Given the description of an element on the screen output the (x, y) to click on. 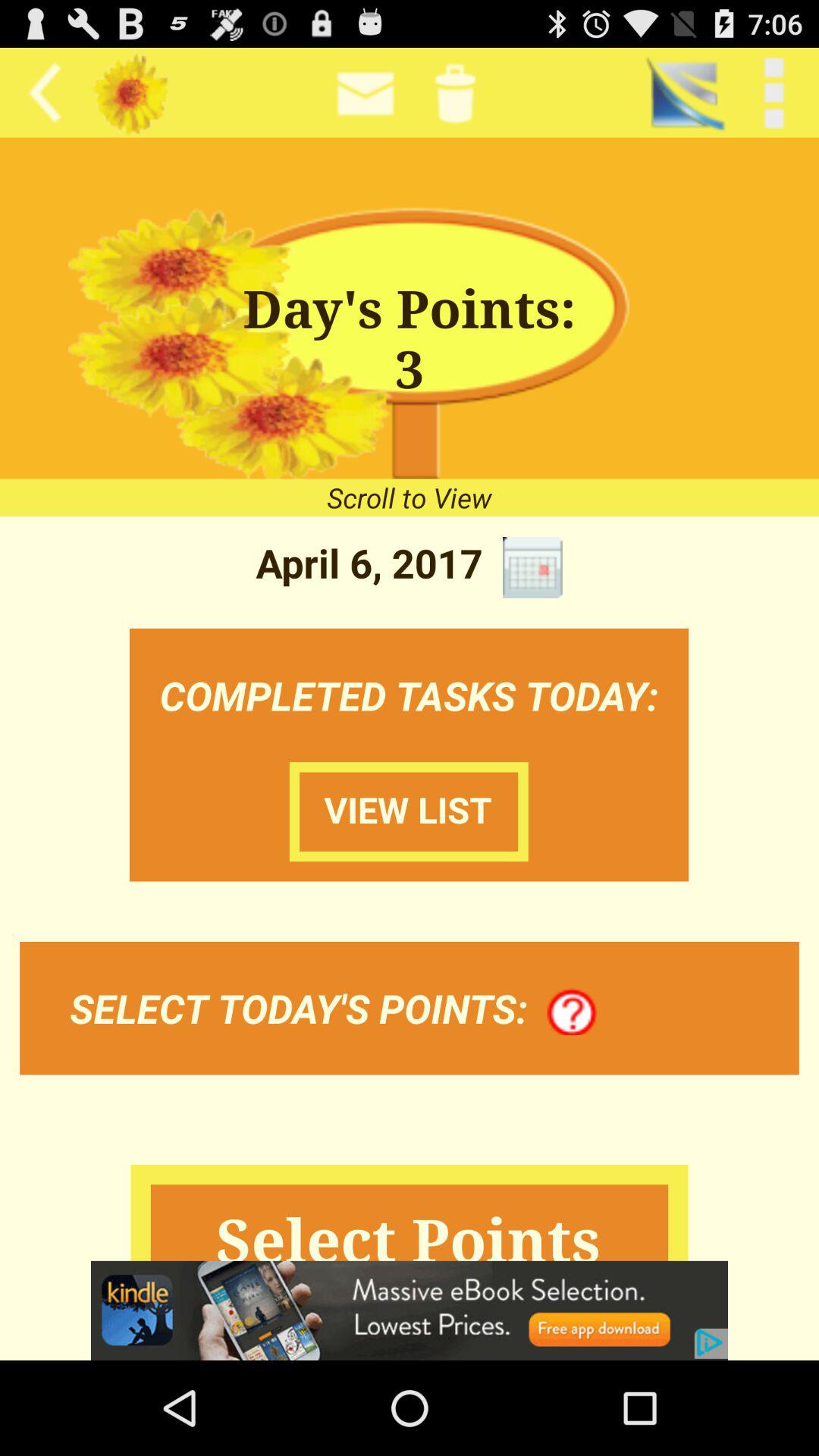
jump to the view list (408, 811)
